Given the description of an element on the screen output the (x, y) to click on. 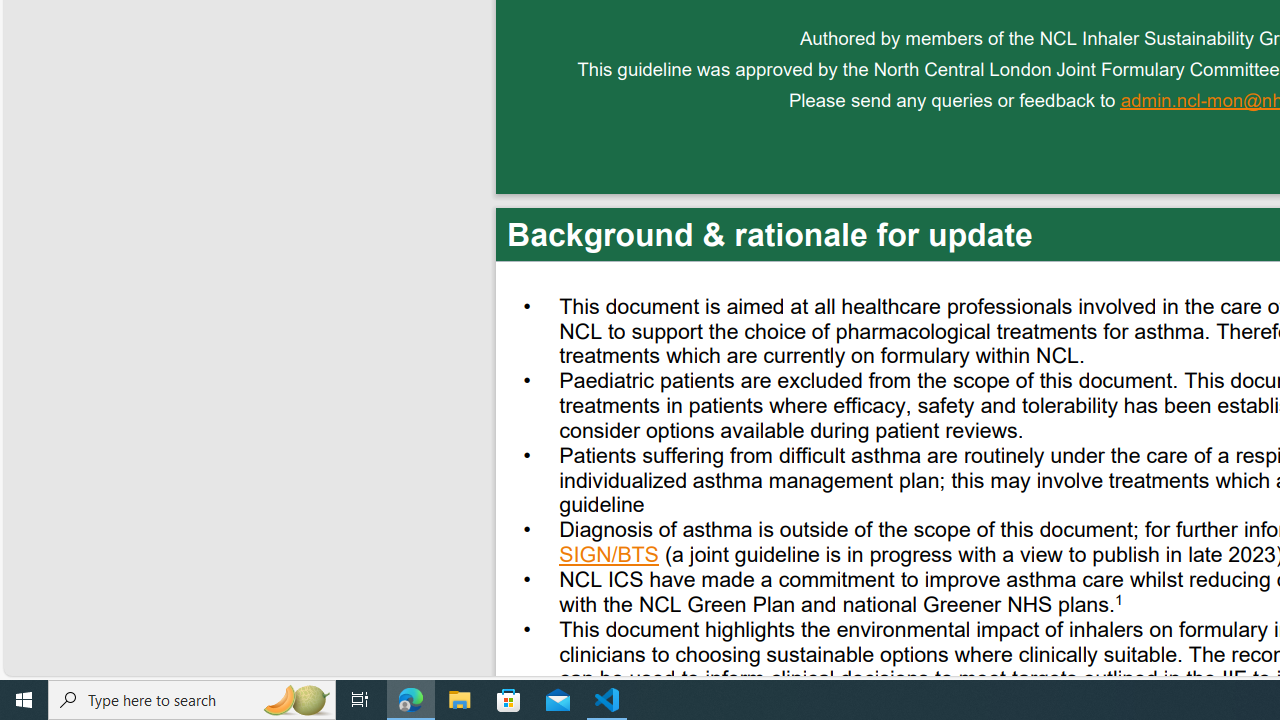
SIGN/BTS (609, 557)
